Given the description of an element on the screen output the (x, y) to click on. 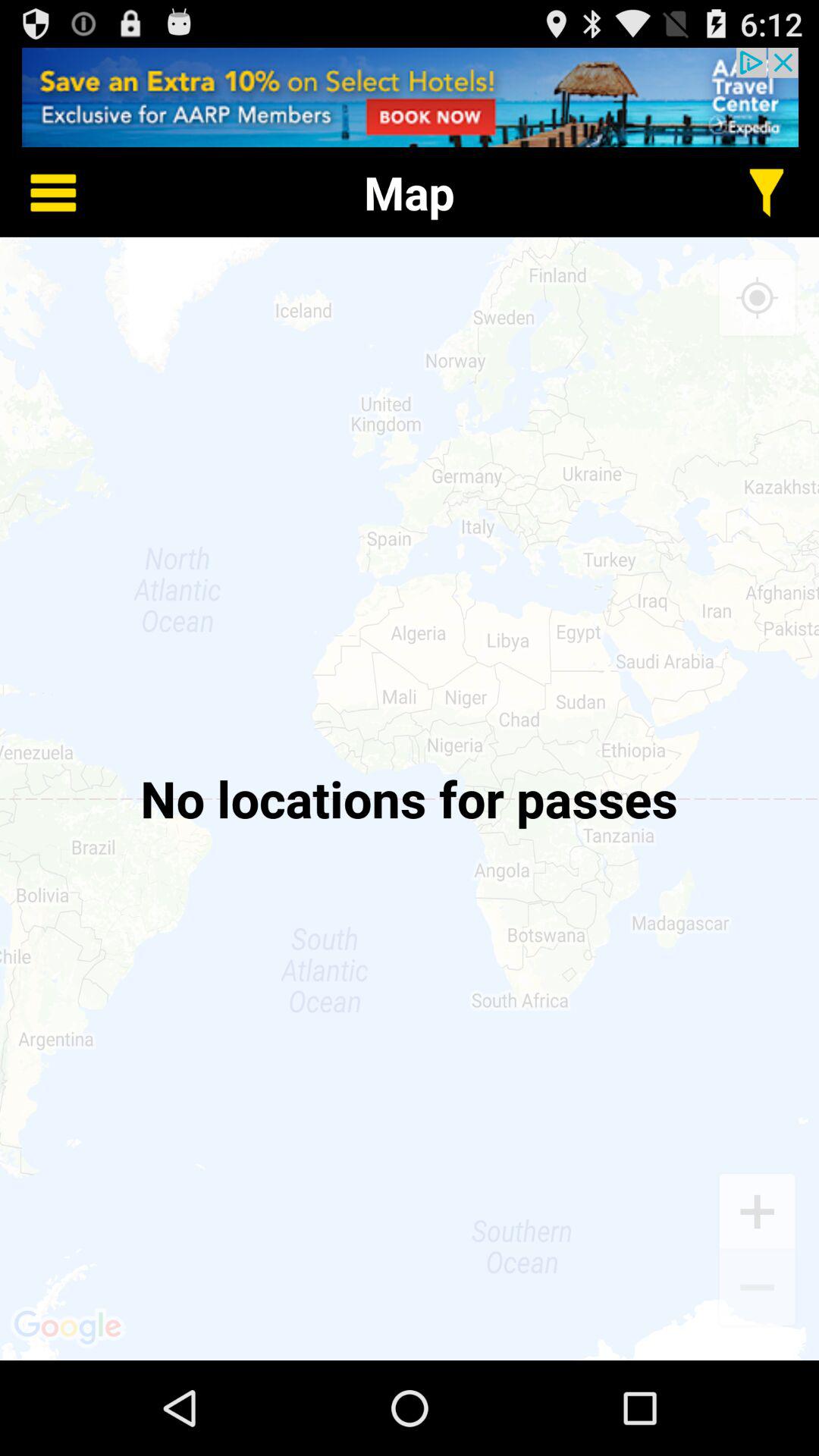
home details (42, 192)
